Given the description of an element on the screen output the (x, y) to click on. 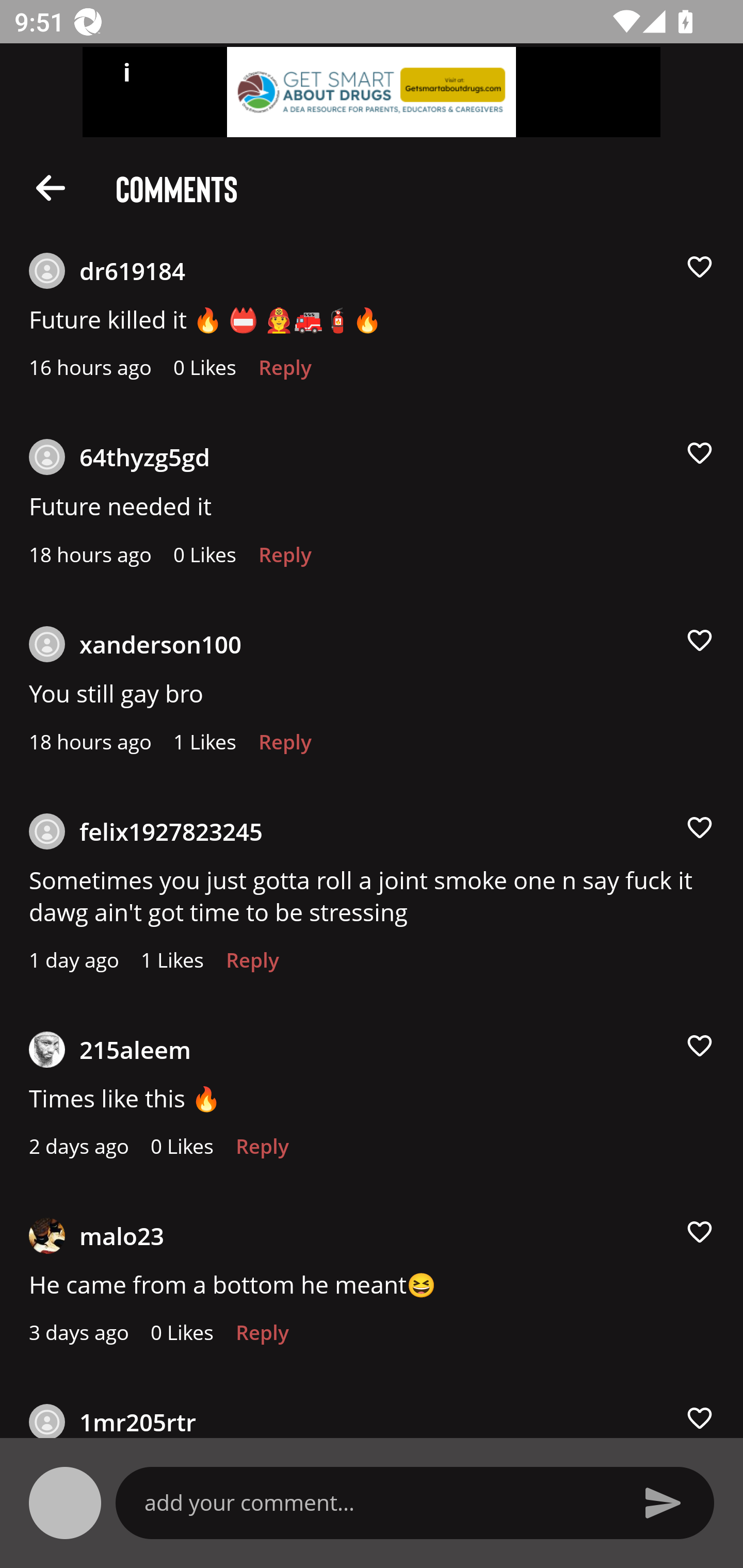
Description (50, 187)
Reply (285, 372)
Reply (285, 559)
Reply (285, 747)
Reply (252, 964)
Reply (261, 1151)
Reply (261, 1337)
add your comment… (378, 1502)
